Given the description of an element on the screen output the (x, y) to click on. 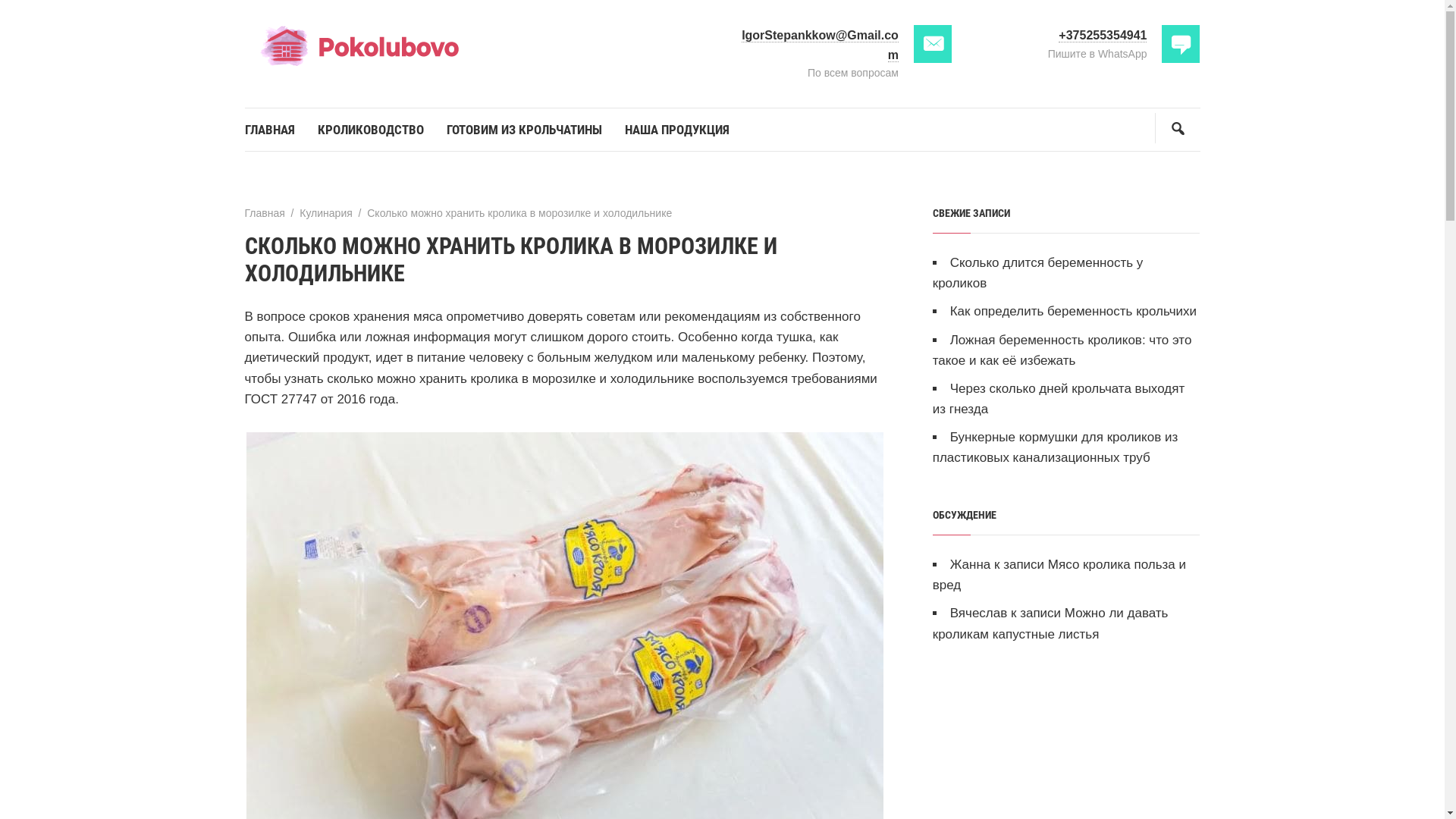
IgorStepankkow@Gmail.com Element type: text (819, 45)
+375255354941 Element type: text (1102, 35)
